Given the description of an element on the screen output the (x, y) to click on. 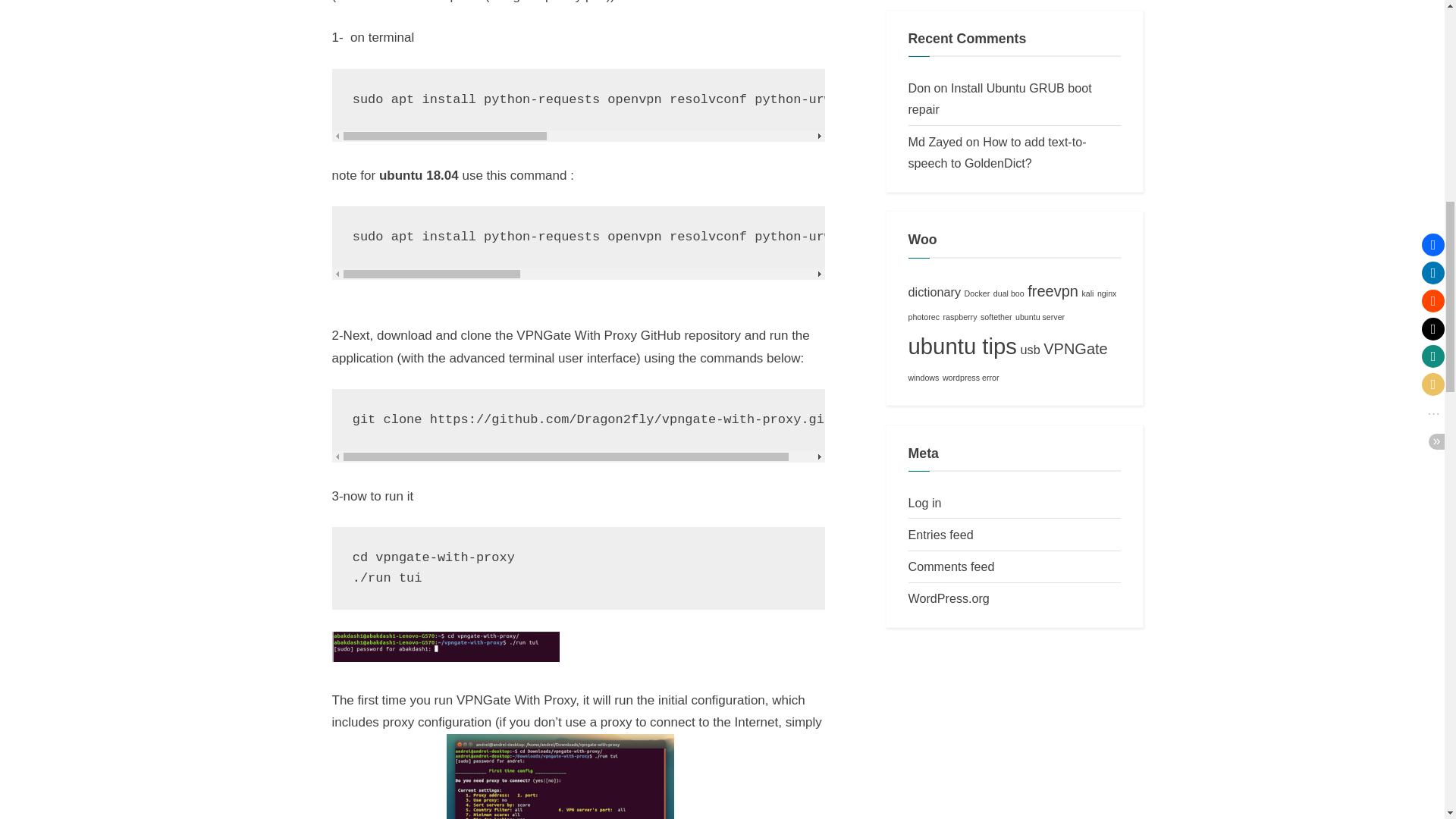
Install Ubuntu GRUB boot repair (1000, 98)
